Given the description of an element on the screen output the (x, y) to click on. 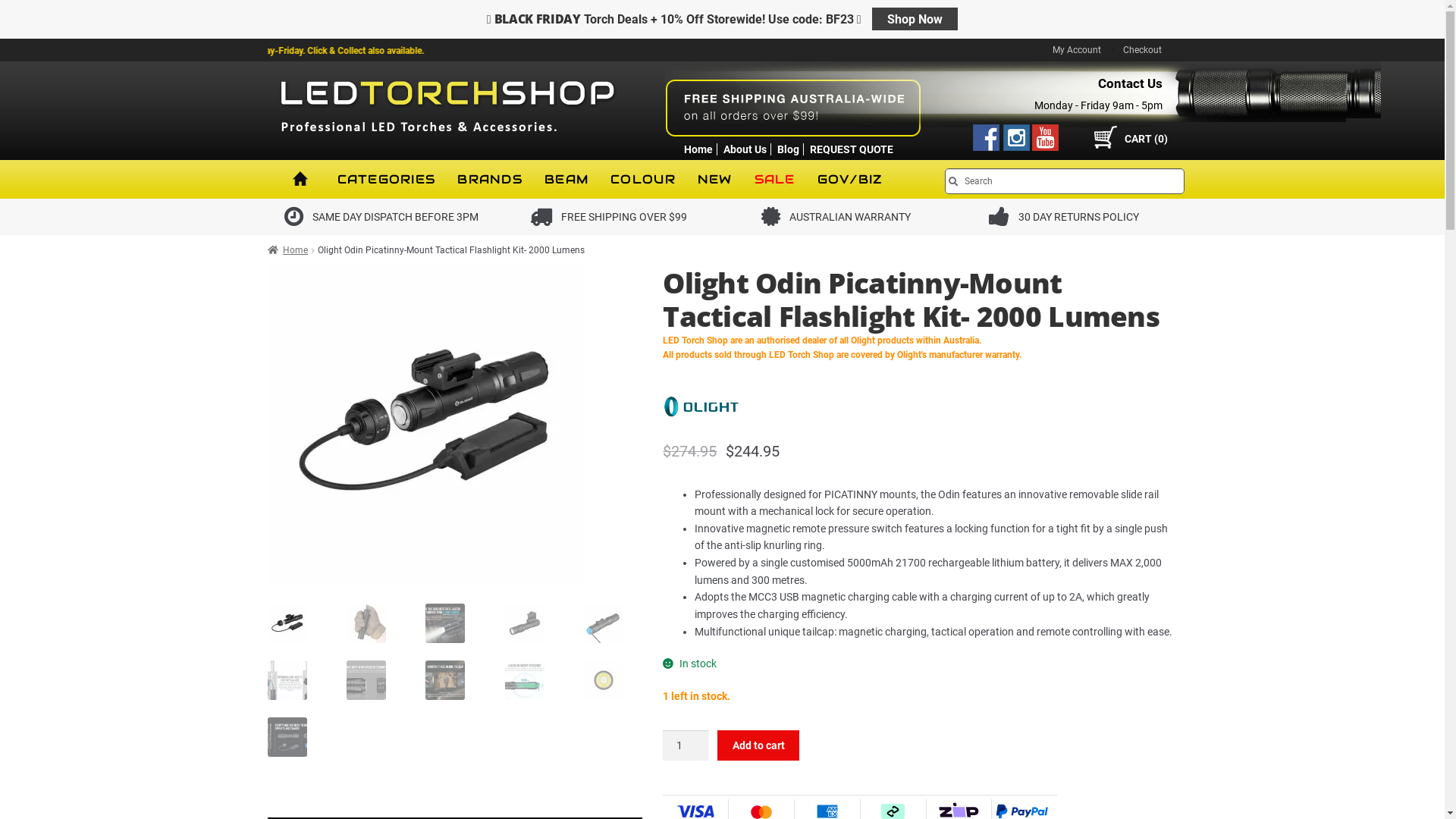
CATEGORIES Element type: text (385, 179)
Skip to navigation Element type: text (266, 159)
COLOUR Element type: text (642, 179)
My Account Element type: text (1076, 49)
SALE Element type: text (774, 179)
Shop Now Element type: text (914, 18)
Checkout Element type: text (1141, 49)
NEW Element type: text (715, 179)
Home Element type: text (286, 249)
BRANDS Element type: text (489, 179)
Home Element type: text (698, 149)
REQUEST QUOTE Element type: text (851, 149)
Olight Element type: hover (700, 420)
Add to cart Element type: text (758, 745)
CART (0) Element type: text (1134, 136)
Blog Element type: text (787, 149)
GOV/BIZ Element type: text (849, 179)
olight_odin_03.jpeg | LED Torch Shop Element type: hover (424, 423)
olight_logo | LED Torch Shop Element type: hover (700, 405)
LED Torch Shop Element type: hover (448, 127)
Contact Us Element type: text (1130, 83)
BEAM Element type: text (566, 179)
About Us Element type: text (744, 149)
